Given the description of an element on the screen output the (x, y) to click on. 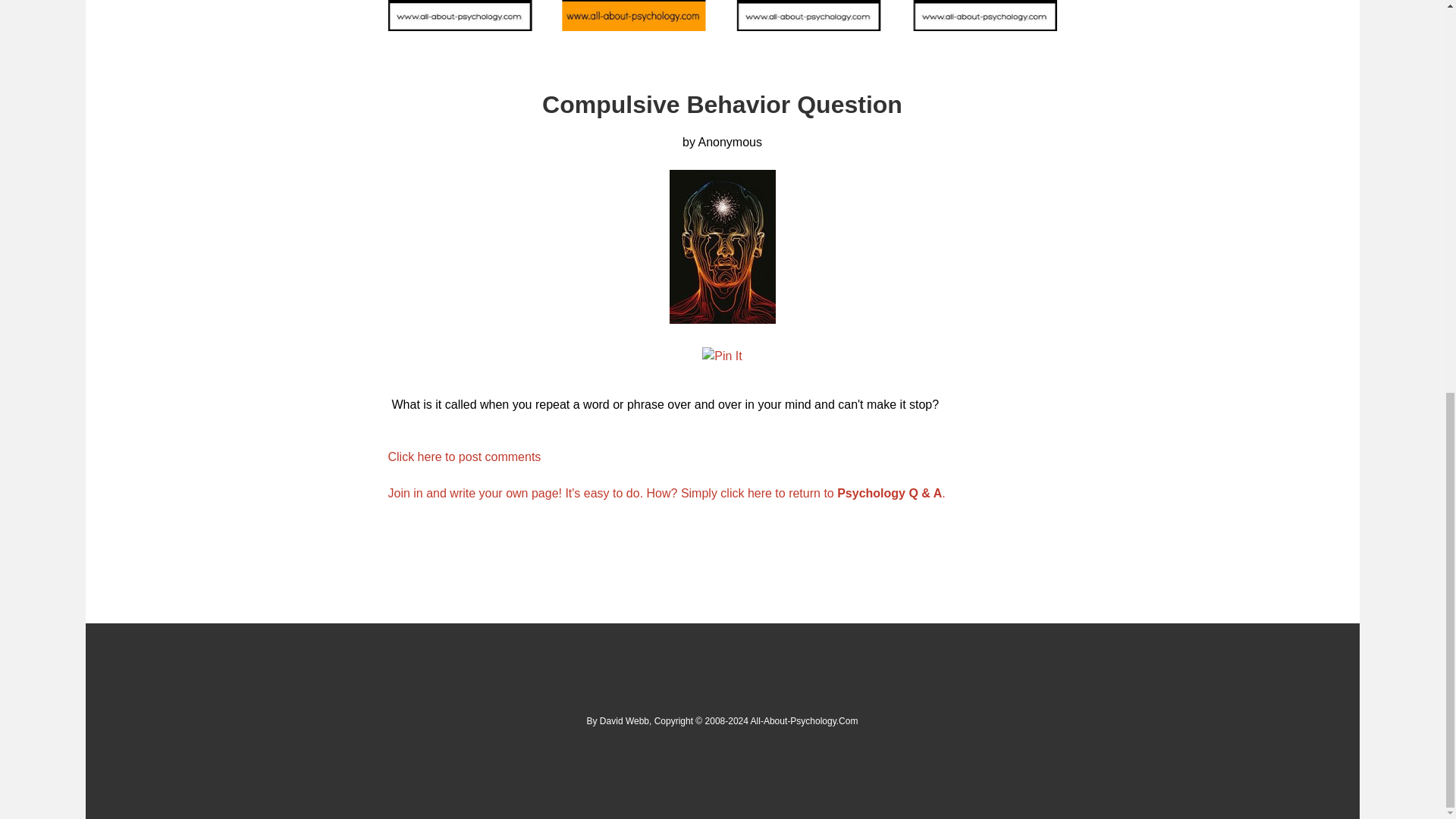
Click here to post comments (464, 456)
Click Here To See The Full Psychology Classics Collection (722, 18)
Pin It (721, 356)
